Given the description of an element on the screen output the (x, y) to click on. 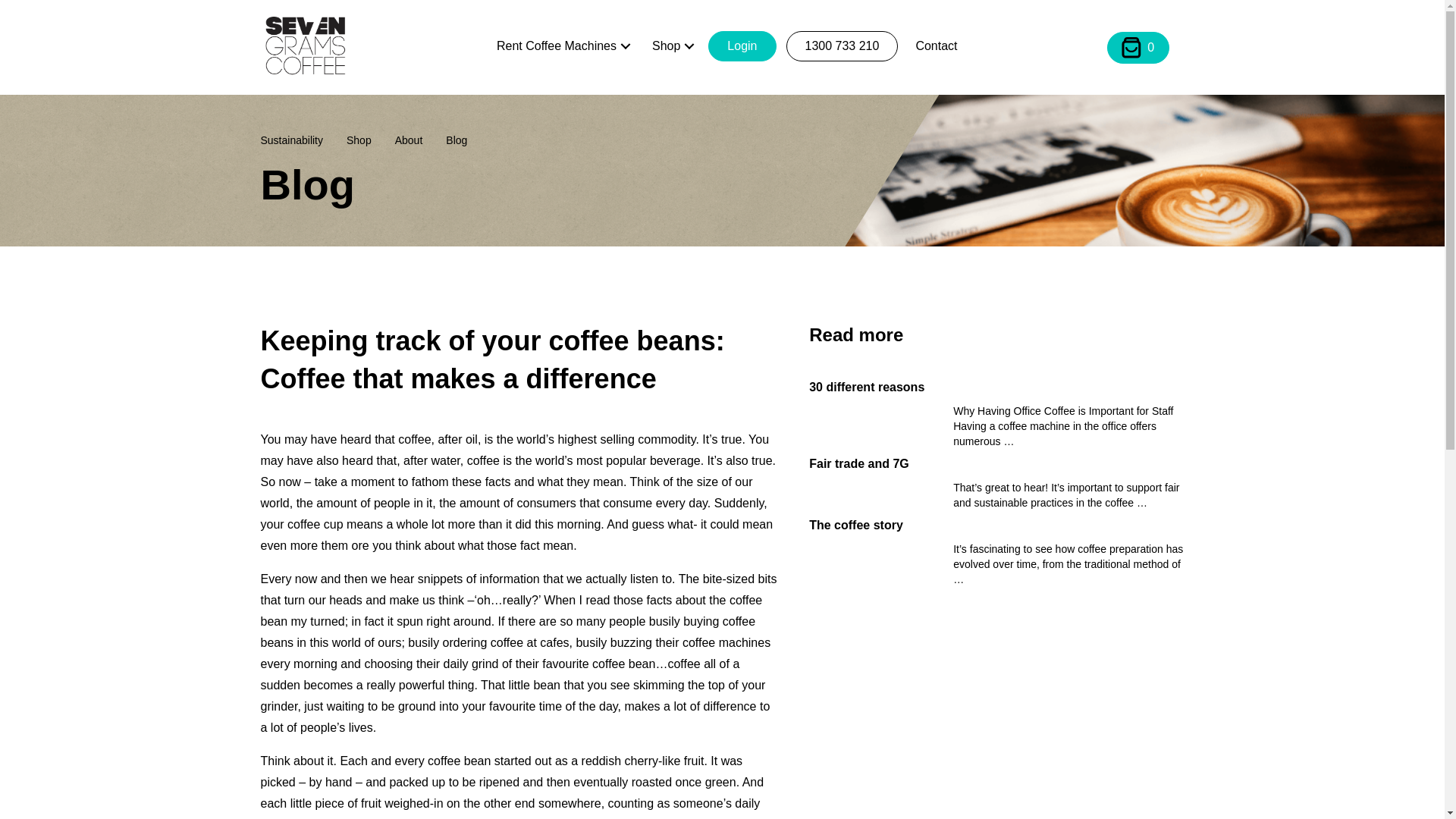
Fair trade and 7G (996, 463)
Shop (370, 140)
Blog (467, 140)
The coffee story (996, 524)
About (419, 140)
1300 733 210 (842, 46)
30 different reasons (996, 386)
Rent Coffee Machines (561, 46)
Shop (671, 46)
Sustainability (303, 140)
Login (741, 46)
Contact (935, 46)
Seven Grams Coffee (305, 45)
My Basket (1137, 47)
0 (1137, 47)
